Given the description of an element on the screen output the (x, y) to click on. 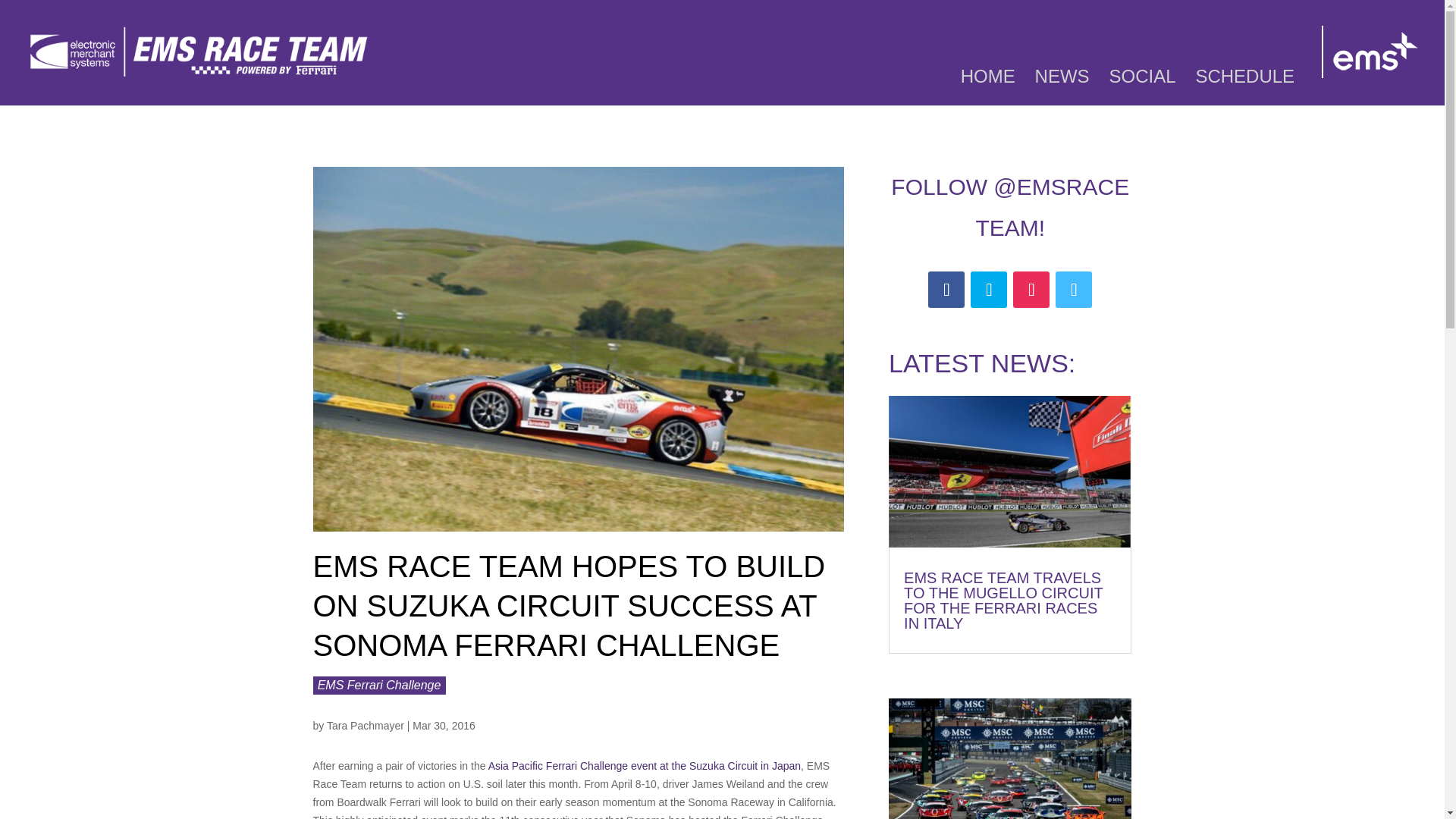
NEWS (1062, 87)
HOME (987, 87)
Follow on Instagram (1031, 289)
Follow on Twitter (989, 289)
Posts by Tara Pachmayer (365, 725)
Follow on Facebook (945, 289)
Tara Pachmayer (365, 725)
Follow on Vimeo (1073, 289)
SOCIAL (1141, 87)
EMS Ferrari Challenge (379, 684)
SCHEDULE (1244, 87)
